Given the description of an element on the screen output the (x, y) to click on. 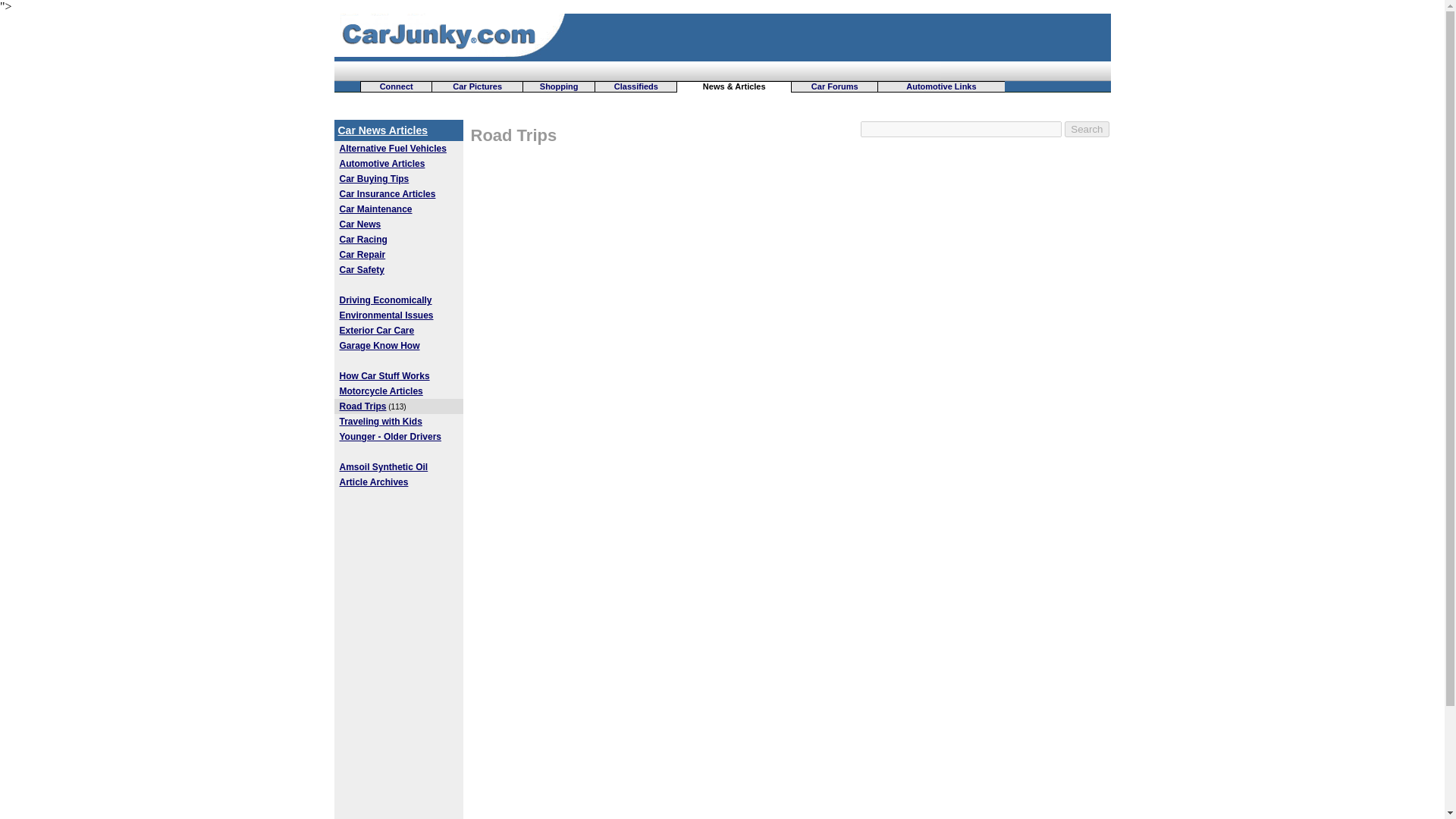
Car News (360, 224)
Car Forums (834, 86)
Driving Economically (385, 299)
Environmental Issues (386, 315)
Car Maintenance (375, 208)
Car Insurance Articles (387, 194)
Classifieds (636, 86)
Article Archives (374, 481)
Road Trips (513, 135)
Automotive Articles (382, 163)
